Given the description of an element on the screen output the (x, y) to click on. 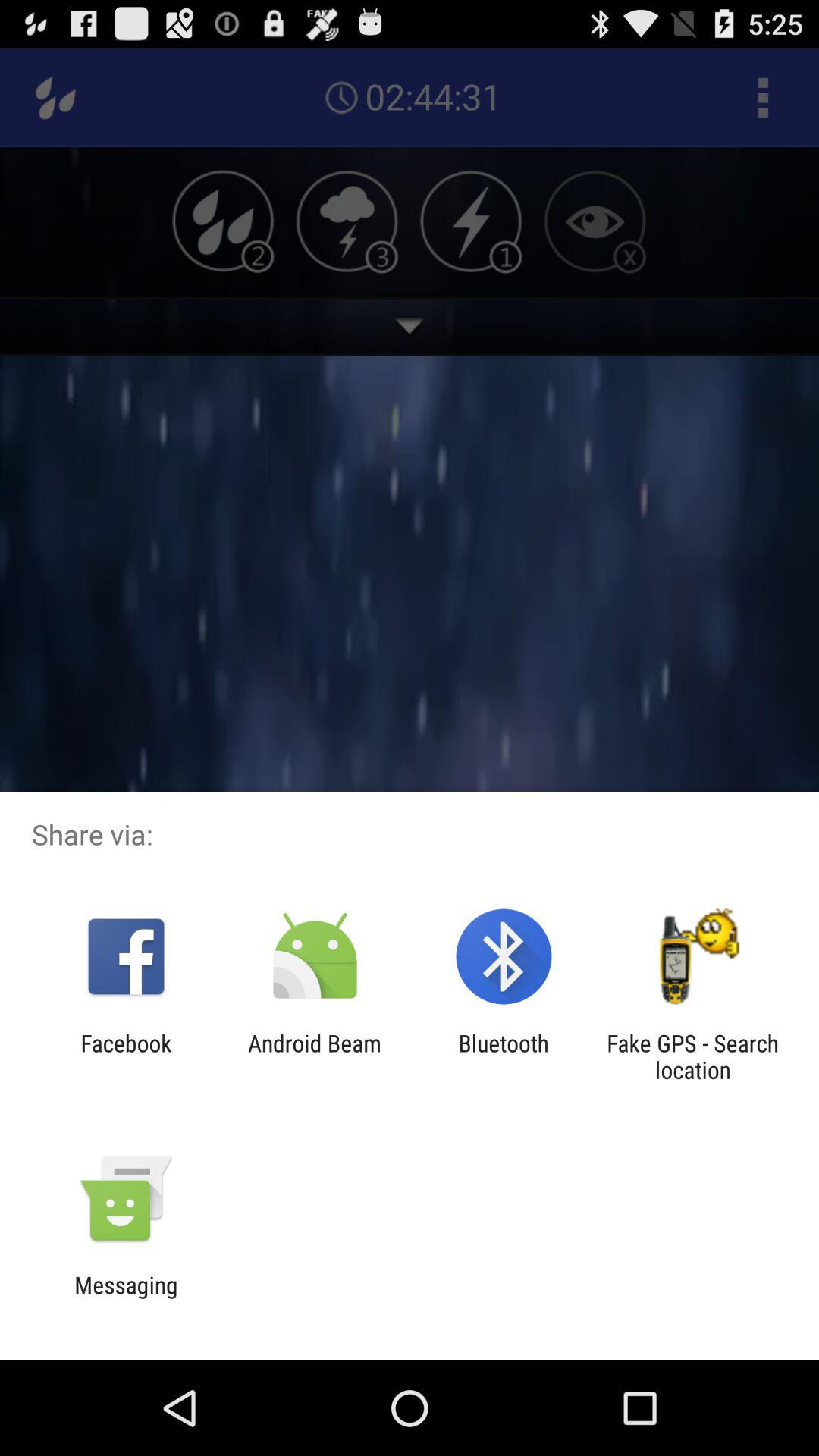
click the app to the left of fake gps search item (503, 1056)
